Given the description of an element on the screen output the (x, y) to click on. 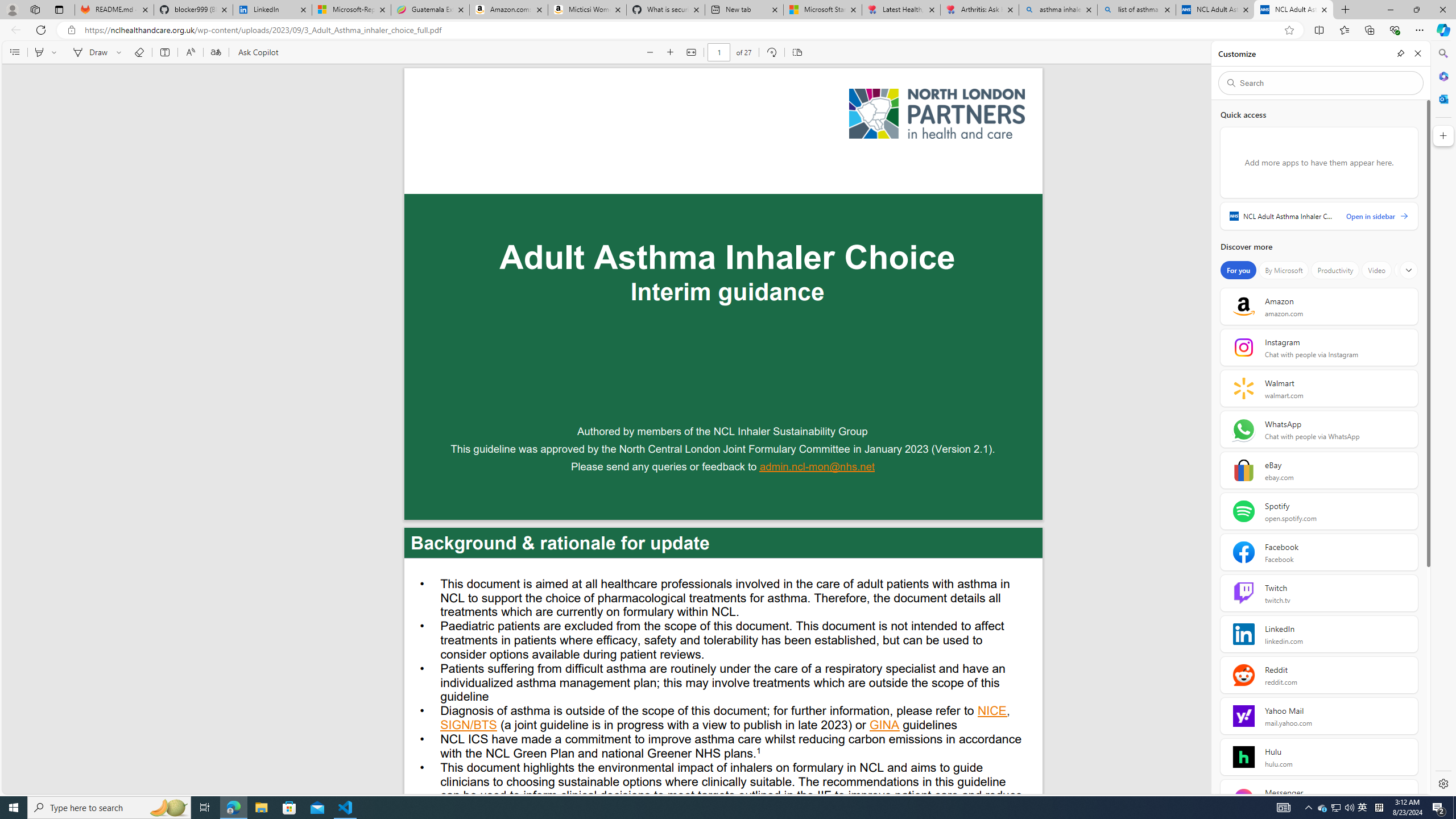
Page view (797, 52)
Ask Copilot (257, 52)
Music (1409, 270)
Select a highlight color (56, 52)
Zoom in (Ctrl+Plus key) (671, 52)
